Given the description of an element on the screen output the (x, y) to click on. 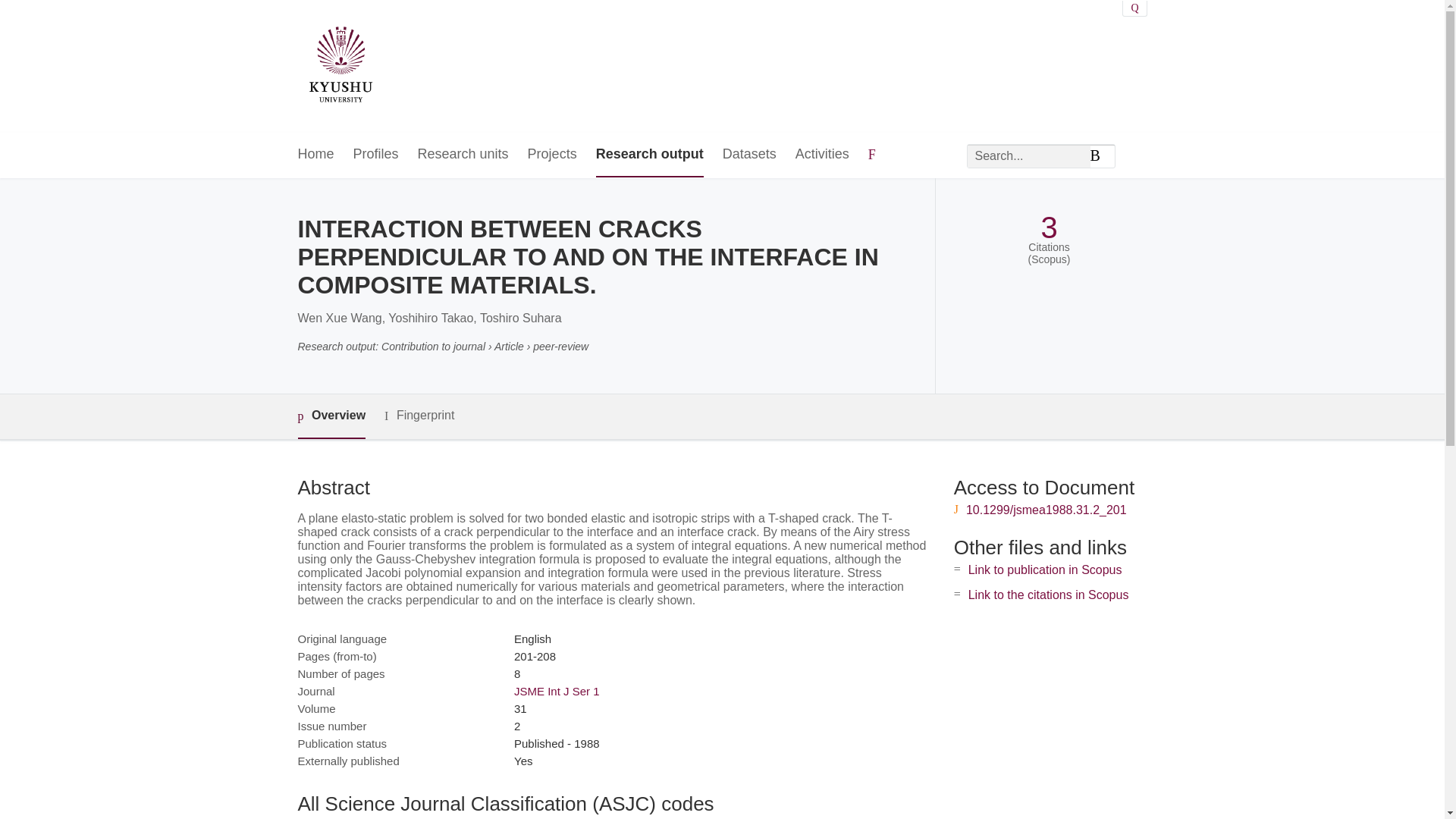
3 (1049, 227)
Link to publication in Scopus (1045, 569)
Fingerprint (419, 415)
Research units (462, 154)
Kyushu University Home (340, 66)
Research output (649, 154)
Profiles (375, 154)
Home (315, 154)
Datasets (749, 154)
Activities (821, 154)
JSME Int J Ser 1 (556, 690)
Projects (551, 154)
Overview (331, 415)
Link to the citations in Scopus (1048, 594)
